Given the description of an element on the screen output the (x, y) to click on. 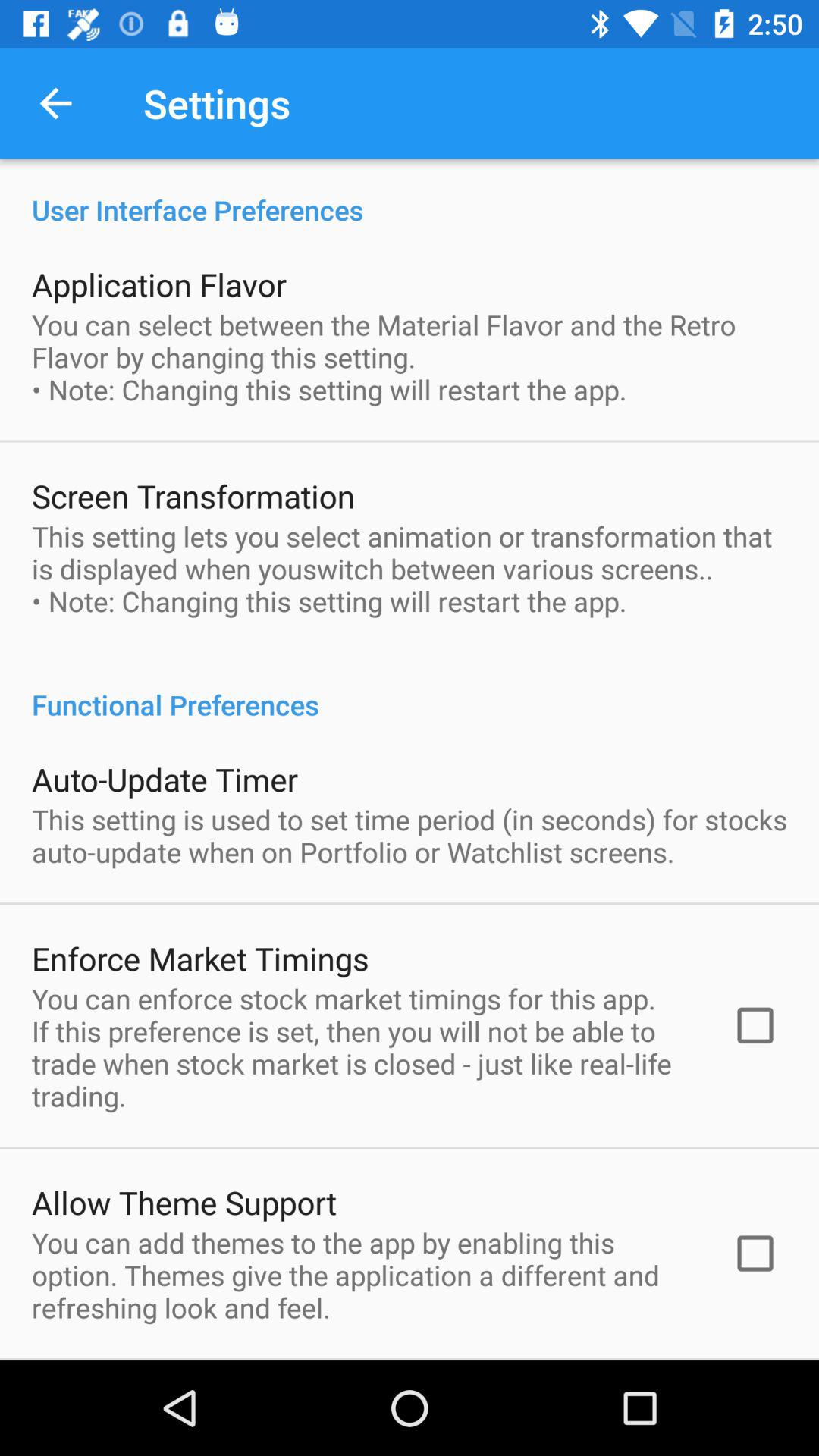
select icon below the this setting lets icon (409, 688)
